Given the description of an element on the screen output the (x, y) to click on. 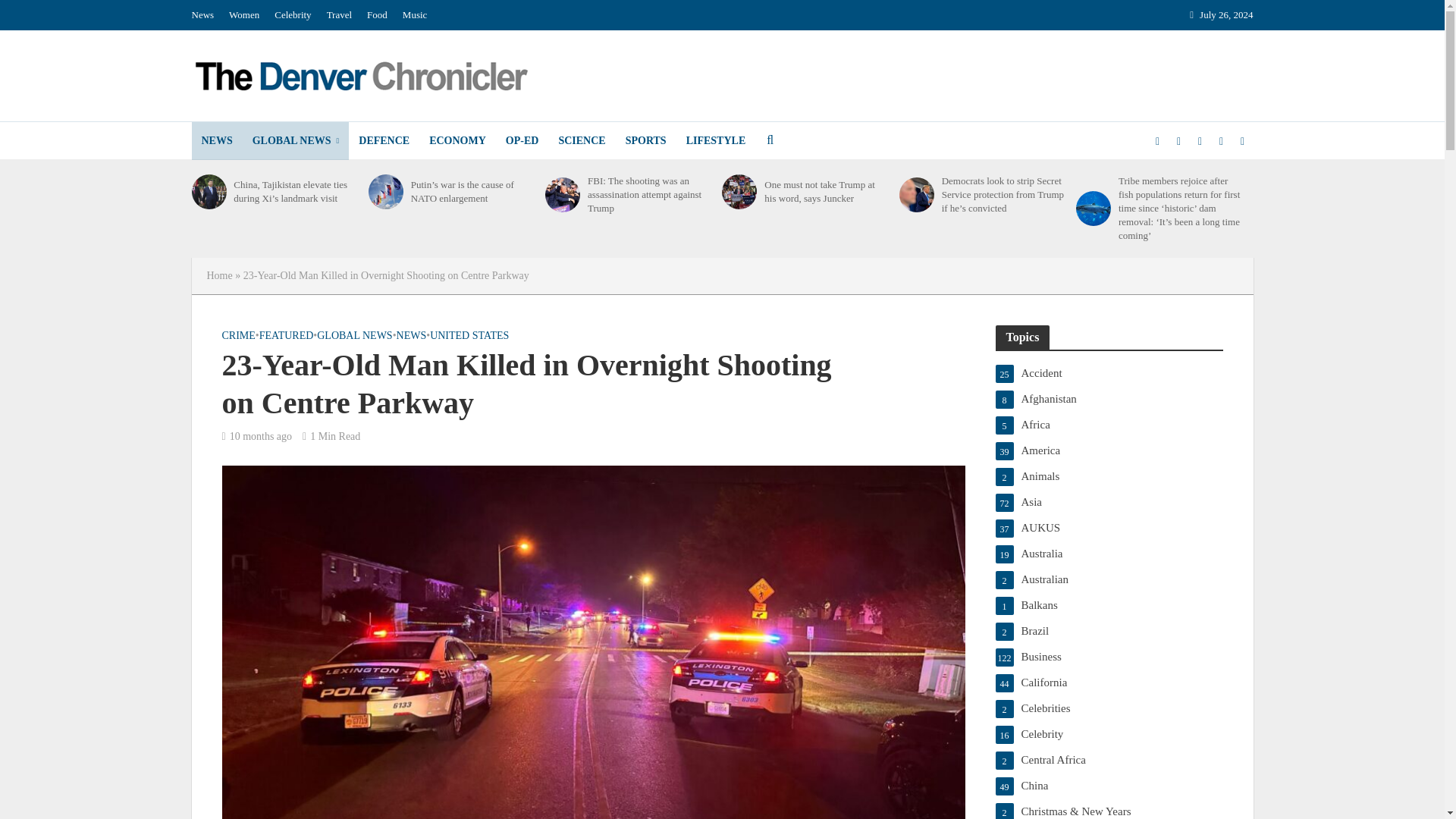
Music (414, 15)
FBI: The shooting was an assassination attempt against Trump (561, 194)
One must not take Trump at his word, says Juncker (739, 191)
News (205, 15)
NEWS (215, 140)
Women (243, 15)
GLOBAL NEWS (296, 140)
Celebrity (292, 15)
Food (376, 15)
Travel (338, 15)
